Given the description of an element on the screen output the (x, y) to click on. 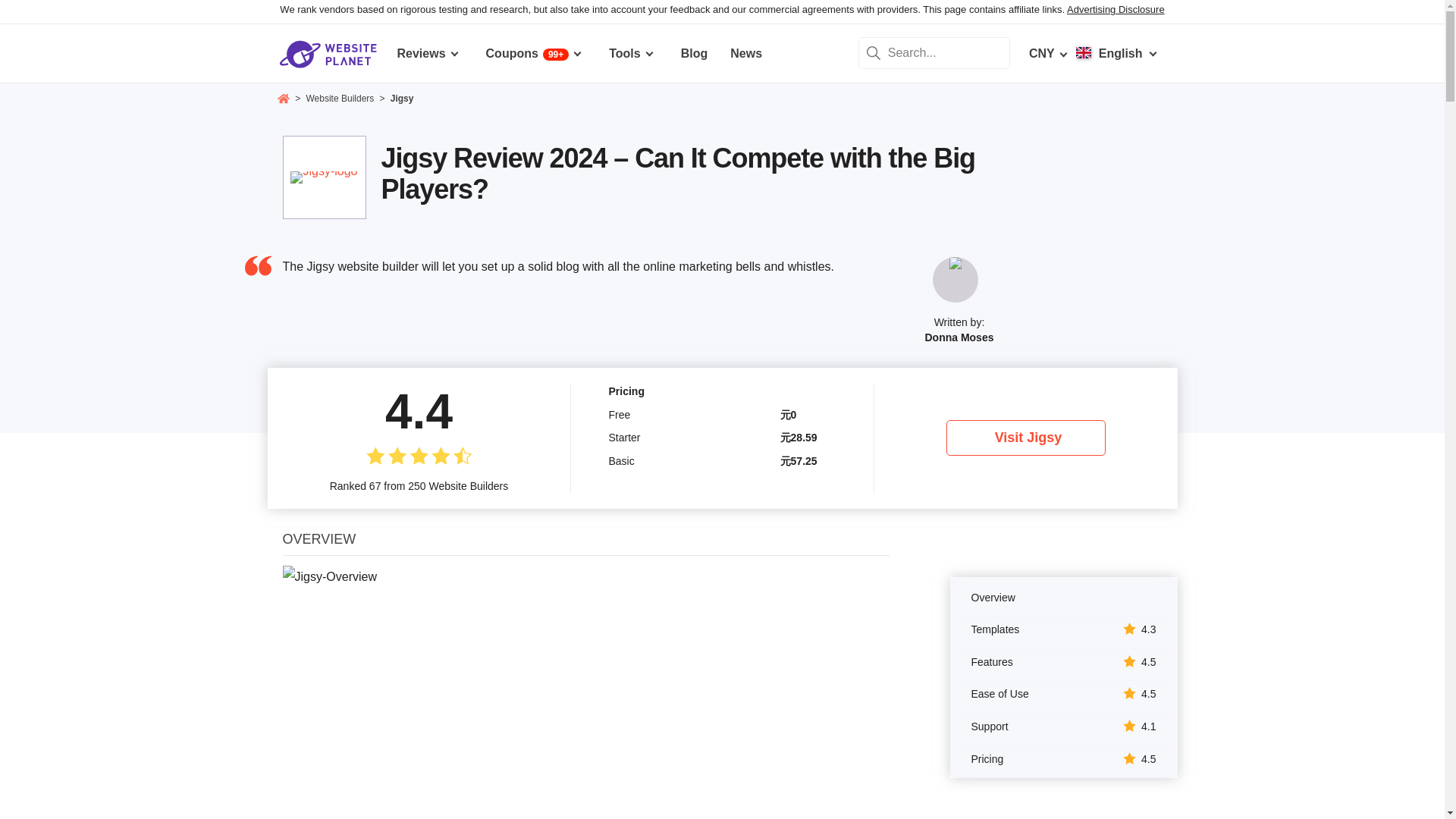
Advertising Disclosure (1115, 9)
Search (873, 52)
Search (873, 52)
